Given the description of an element on the screen output the (x, y) to click on. 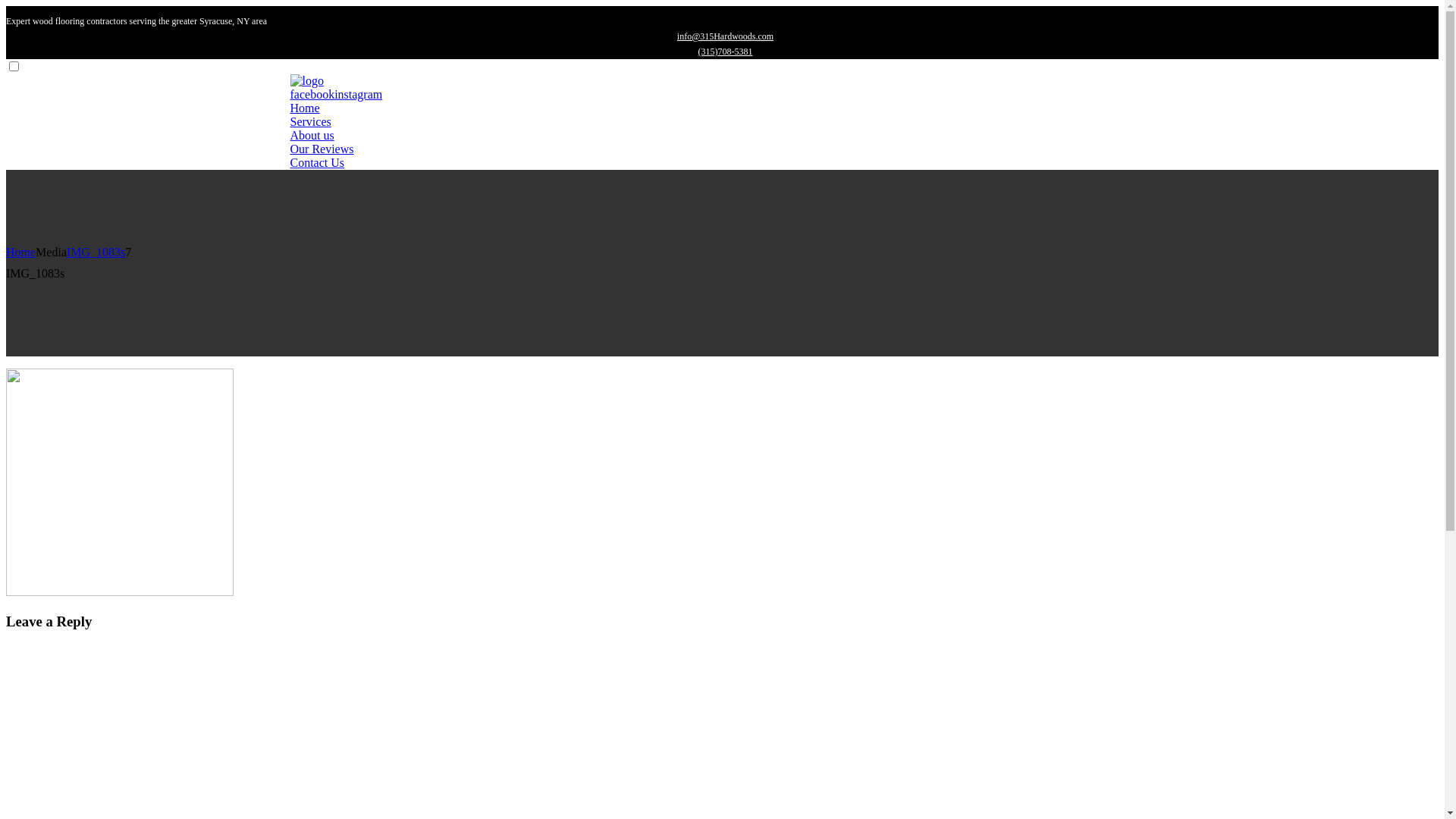
Our Reviews Element type: text (321, 148)
Home Element type: text (304, 107)
About us Element type: text (311, 134)
facebook Element type: text (311, 93)
Contact Us Element type: text (316, 162)
instagram Element type: text (358, 93)
info@315Hardwoods.com Element type: text (725, 36)
(315)708-5381 Element type: text (724, 51)
Services Element type: text (309, 121)
Home Element type: text (20, 251)
IMG_1083s Element type: text (95, 251)
